Given the description of an element on the screen output the (x, y) to click on. 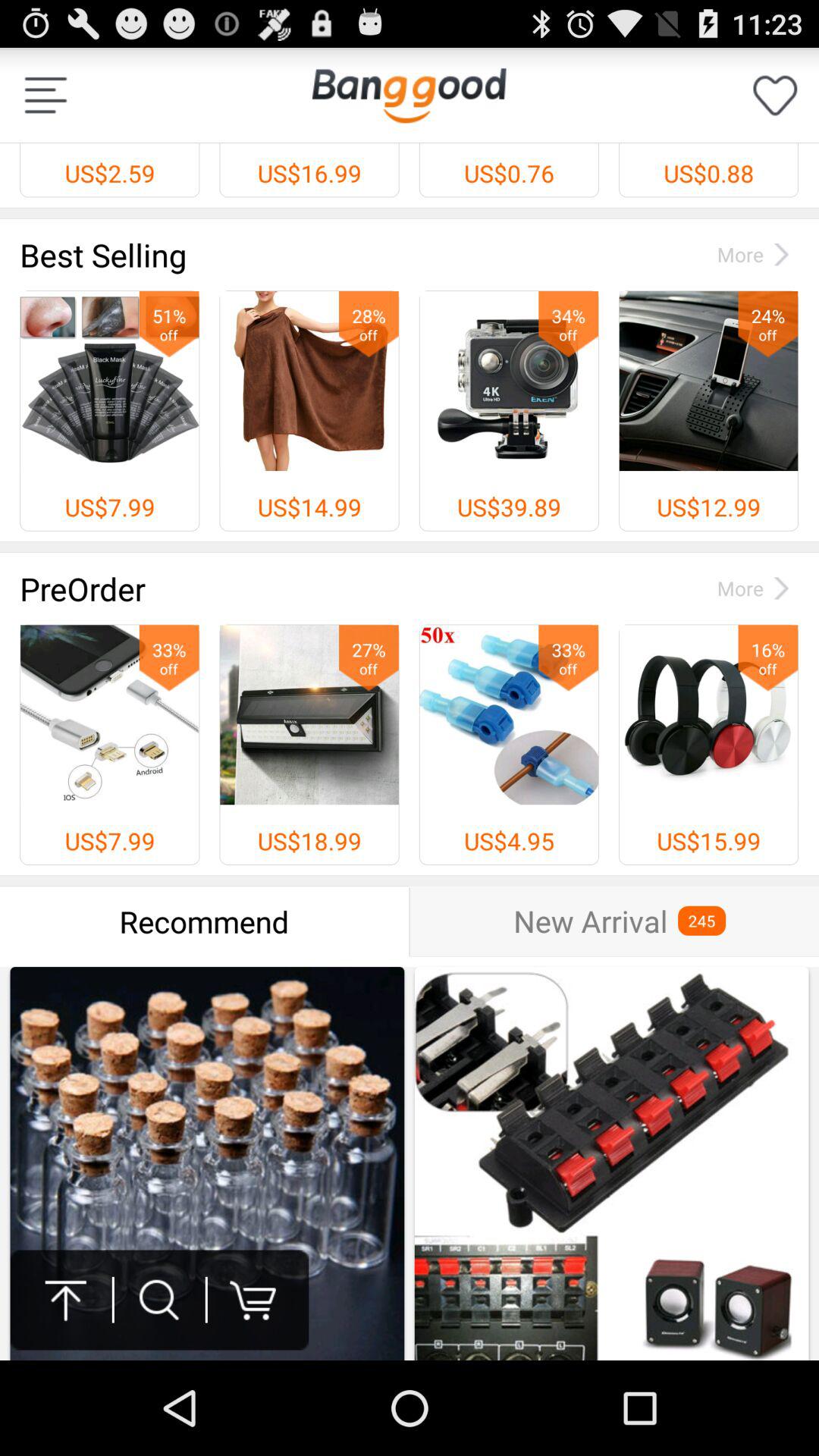
select item next to us$2.59 icon (409, 95)
